Given the description of an element on the screen output the (x, y) to click on. 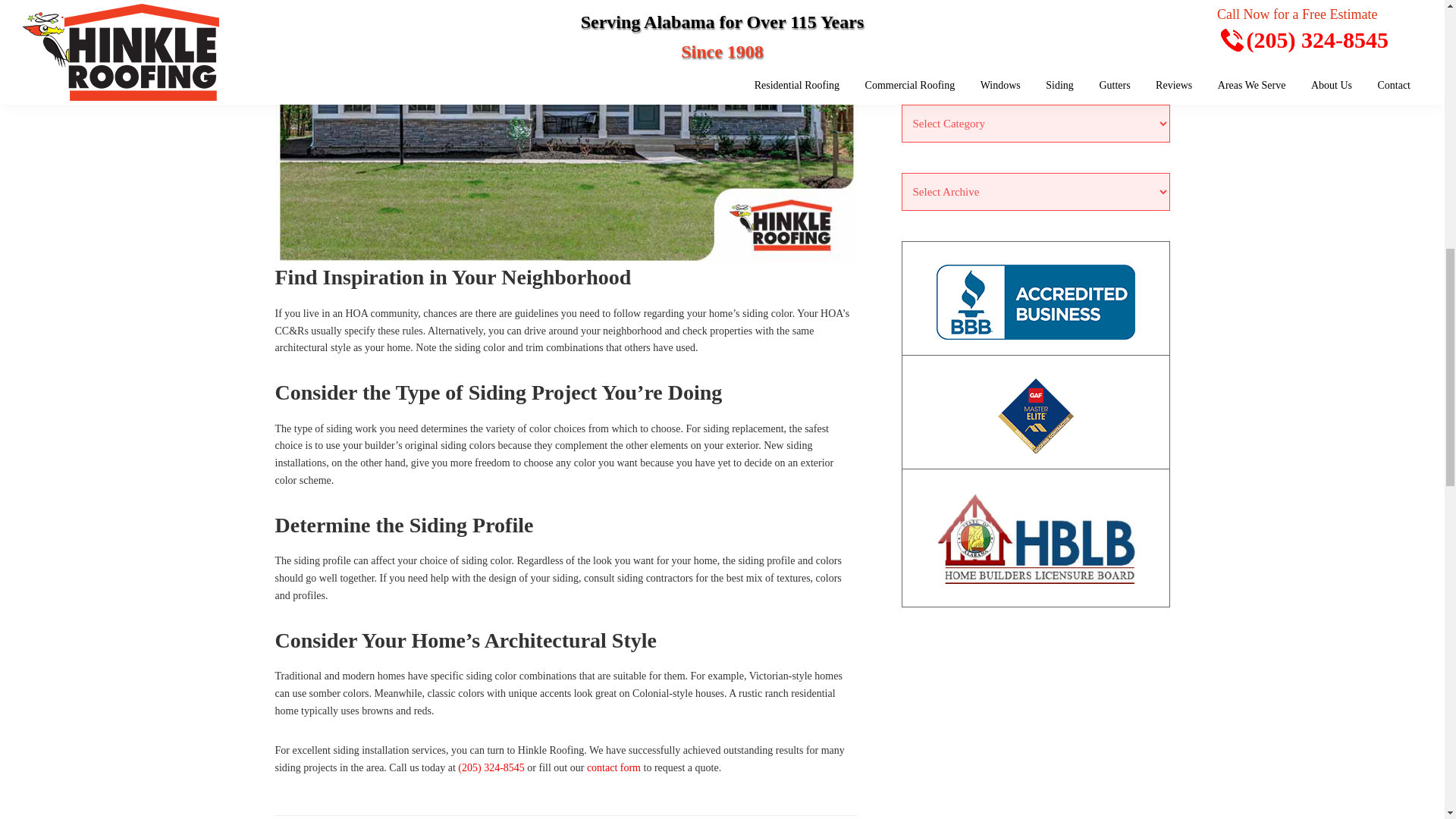
BBB Accredited Business (1035, 301)
GAF Master Elite (1035, 415)
HBLB - Home Builders Licensure Board (1035, 537)
